Given the description of an element on the screen output the (x, y) to click on. 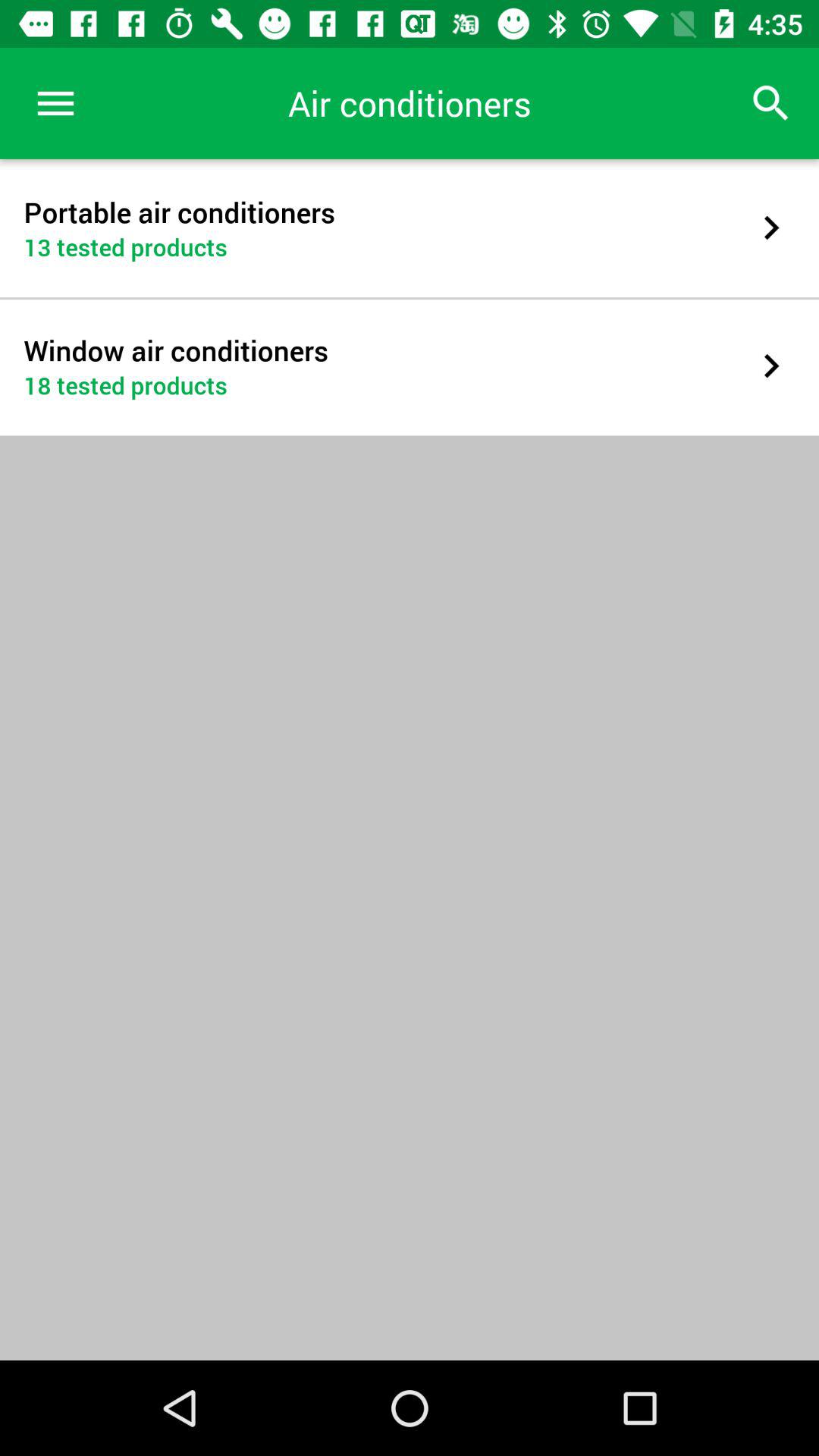
choose the icon next to the air conditioners item (771, 103)
